Given the description of an element on the screen output the (x, y) to click on. 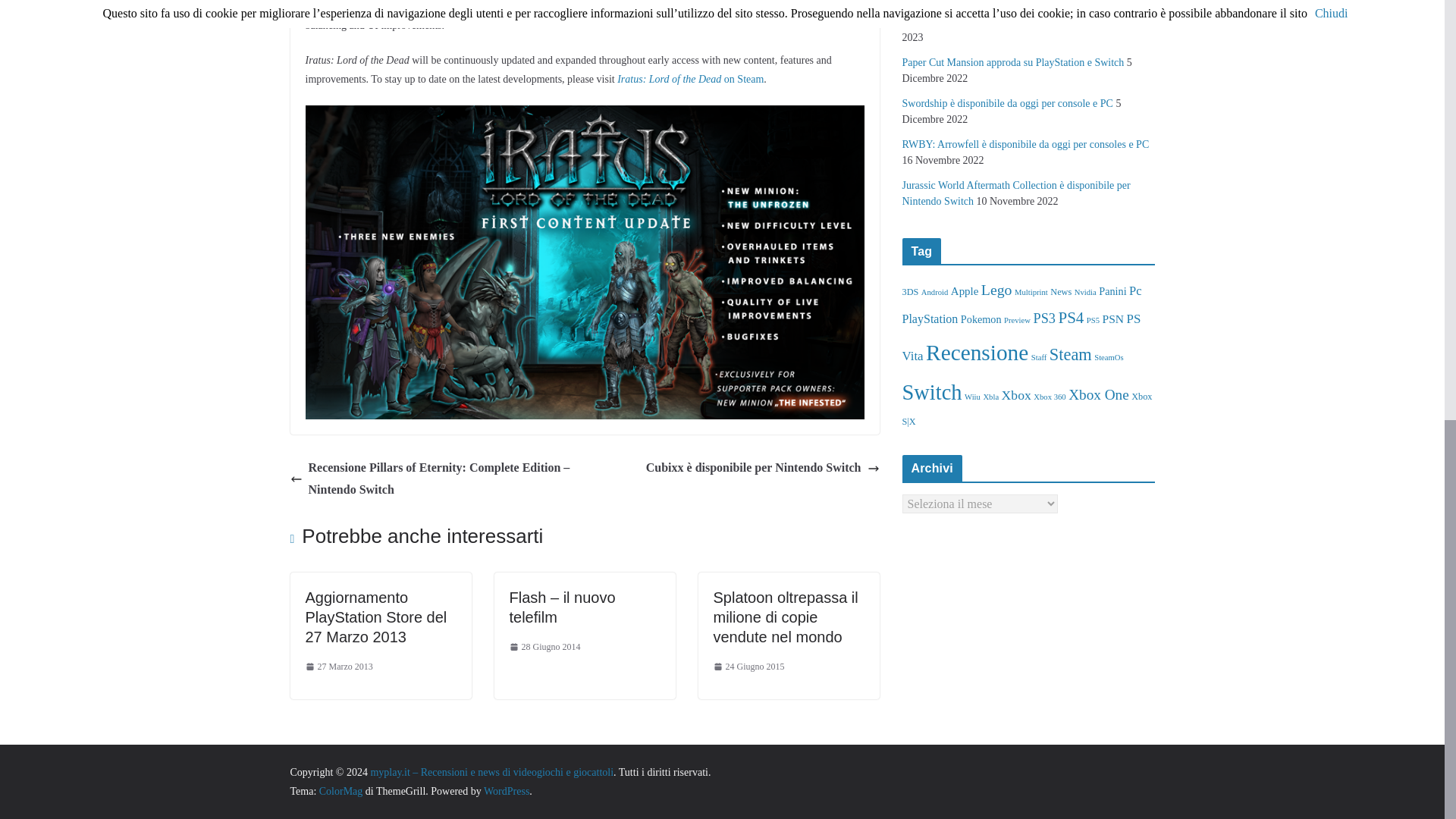
22:39 (544, 647)
10:53 (748, 667)
Iratus: Lord of the Dead on Steam (689, 79)
Aggiornamento PlayStation Store del 27 Marzo 2013 (375, 616)
Aggiornamento PlayStation Store del 27 Marzo 2013 (375, 616)
24 Giugno 2015 (748, 667)
Splatoon oltrepassa il milione di copie vendute nel mondo (785, 616)
27 Marzo 2013 (338, 667)
21:35 (338, 667)
Splatoon oltrepassa il milione di copie vendute nel mondo (785, 616)
